Given the description of an element on the screen output the (x, y) to click on. 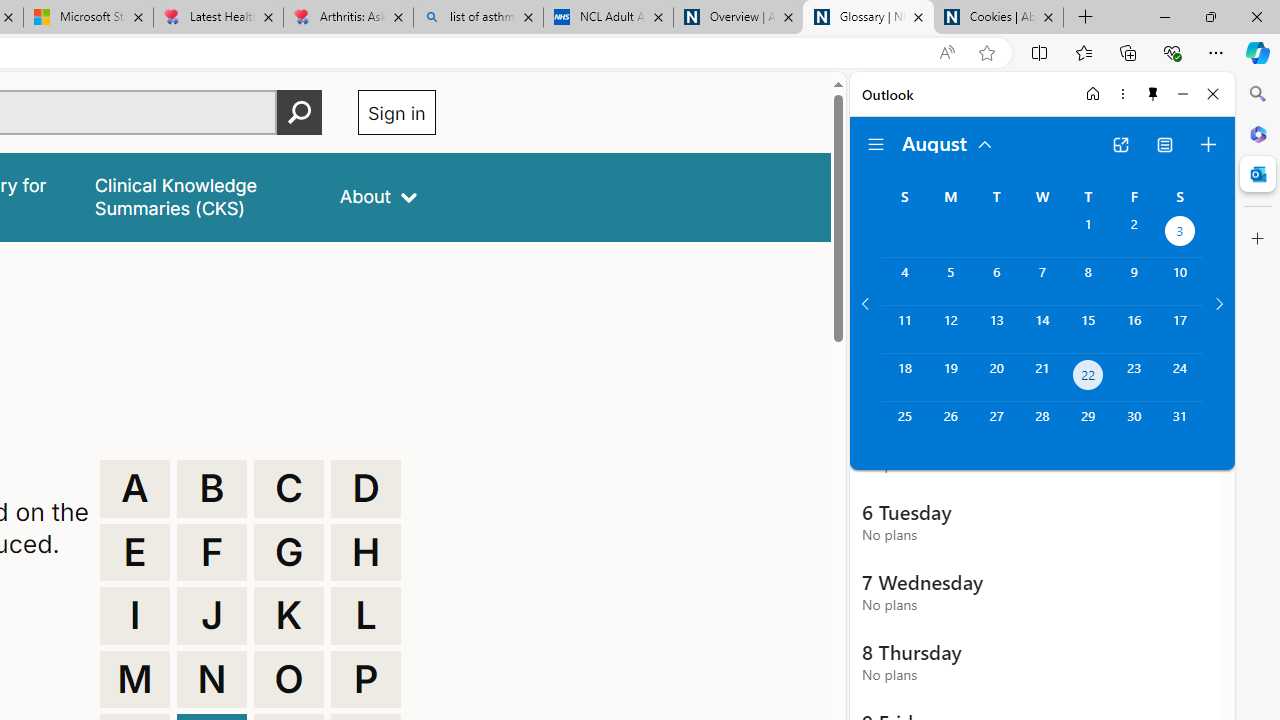
Browser essentials (1171, 52)
D (365, 488)
Sunday, August 18, 2024.  (904, 377)
N (212, 679)
O (289, 679)
B (212, 488)
E (134, 551)
E (134, 551)
Microsoft 365 (1258, 133)
Minimize (1182, 93)
Monday, August 19, 2024.  (950, 377)
Perform search (299, 112)
Close (1213, 93)
M (134, 679)
